Given the description of an element on the screen output the (x, y) to click on. 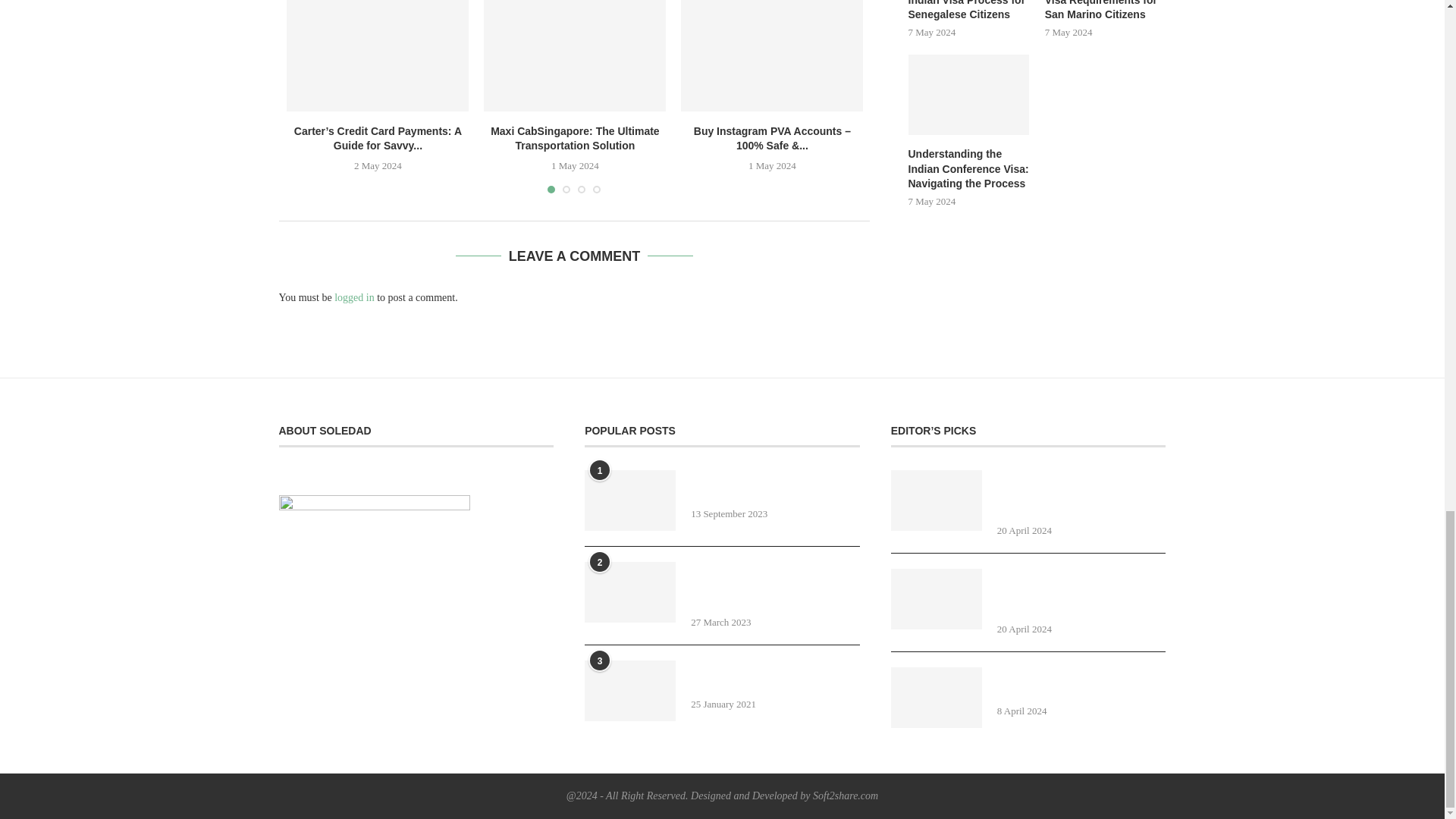
Maxi CabSingapore: The Ultimate Transportation Solution (574, 55)
